Given the description of an element on the screen output the (x, y) to click on. 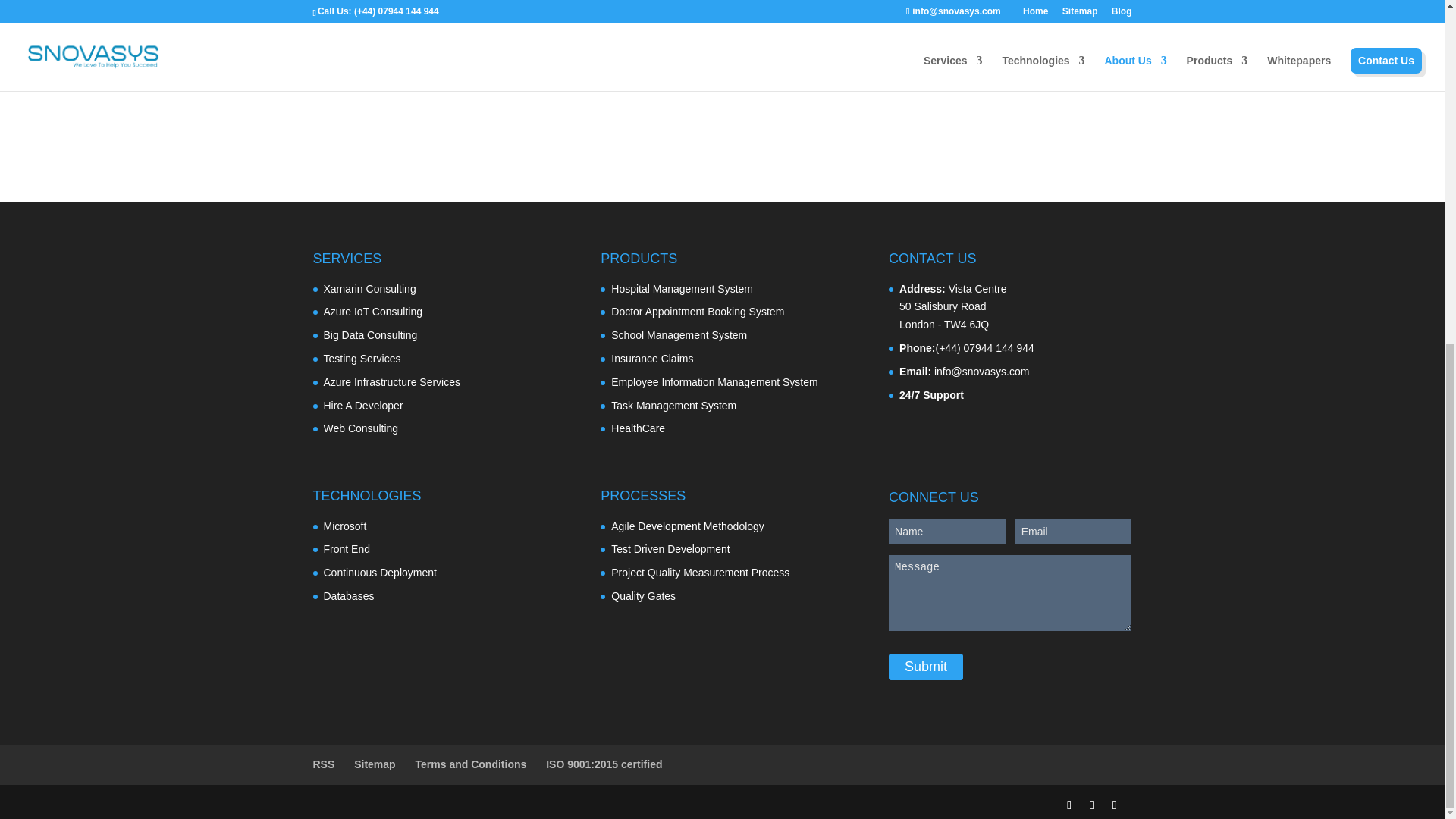
Submit (925, 666)
